Given the description of an element on the screen output the (x, y) to click on. 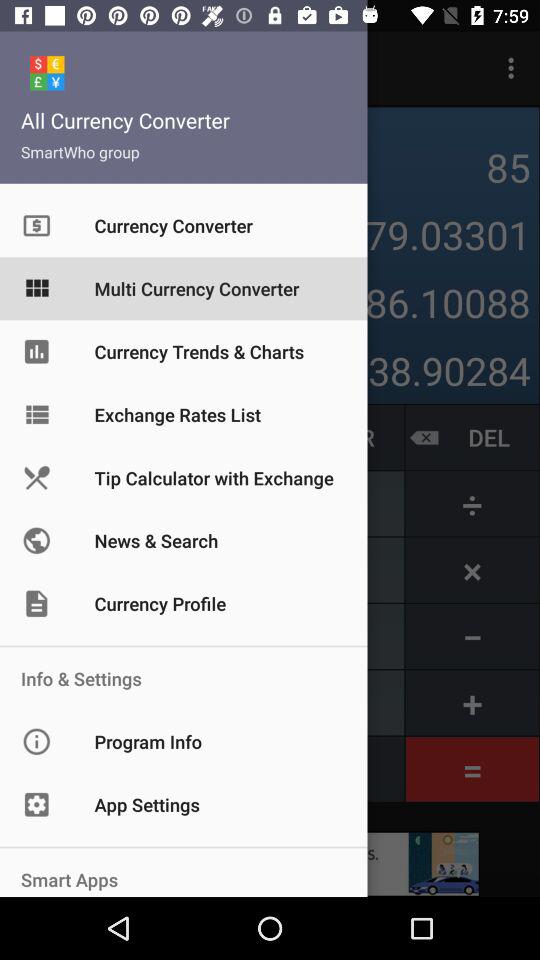
move to  (183, 288)
